Given the description of an element on the screen output the (x, y) to click on. 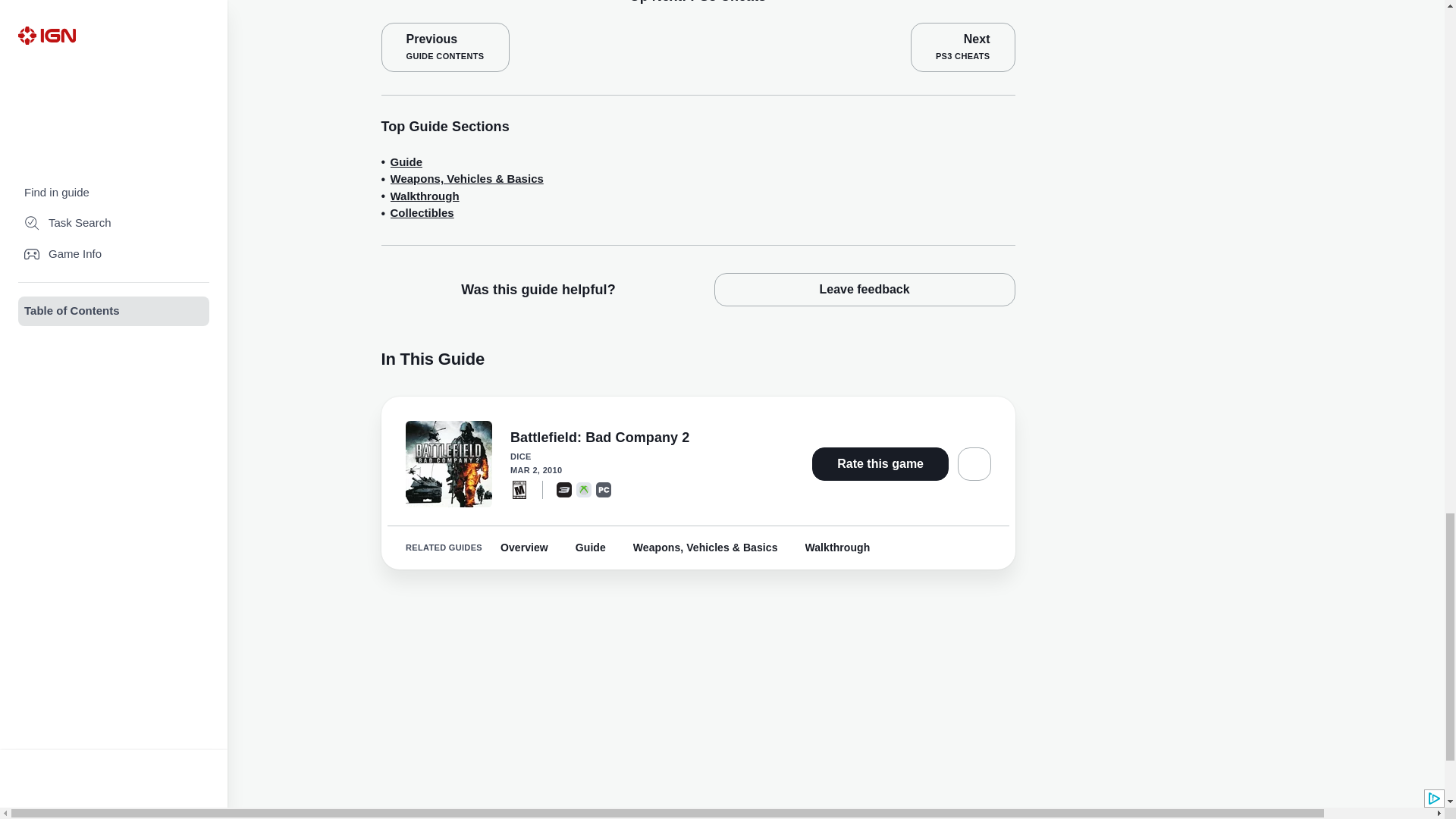
PC (444, 47)
ESRB: Mature (603, 489)
PlayStation 3 (962, 47)
Walkthrough (518, 489)
Guide (564, 489)
Xbox 360 (424, 196)
